Given the description of an element on the screen output the (x, y) to click on. 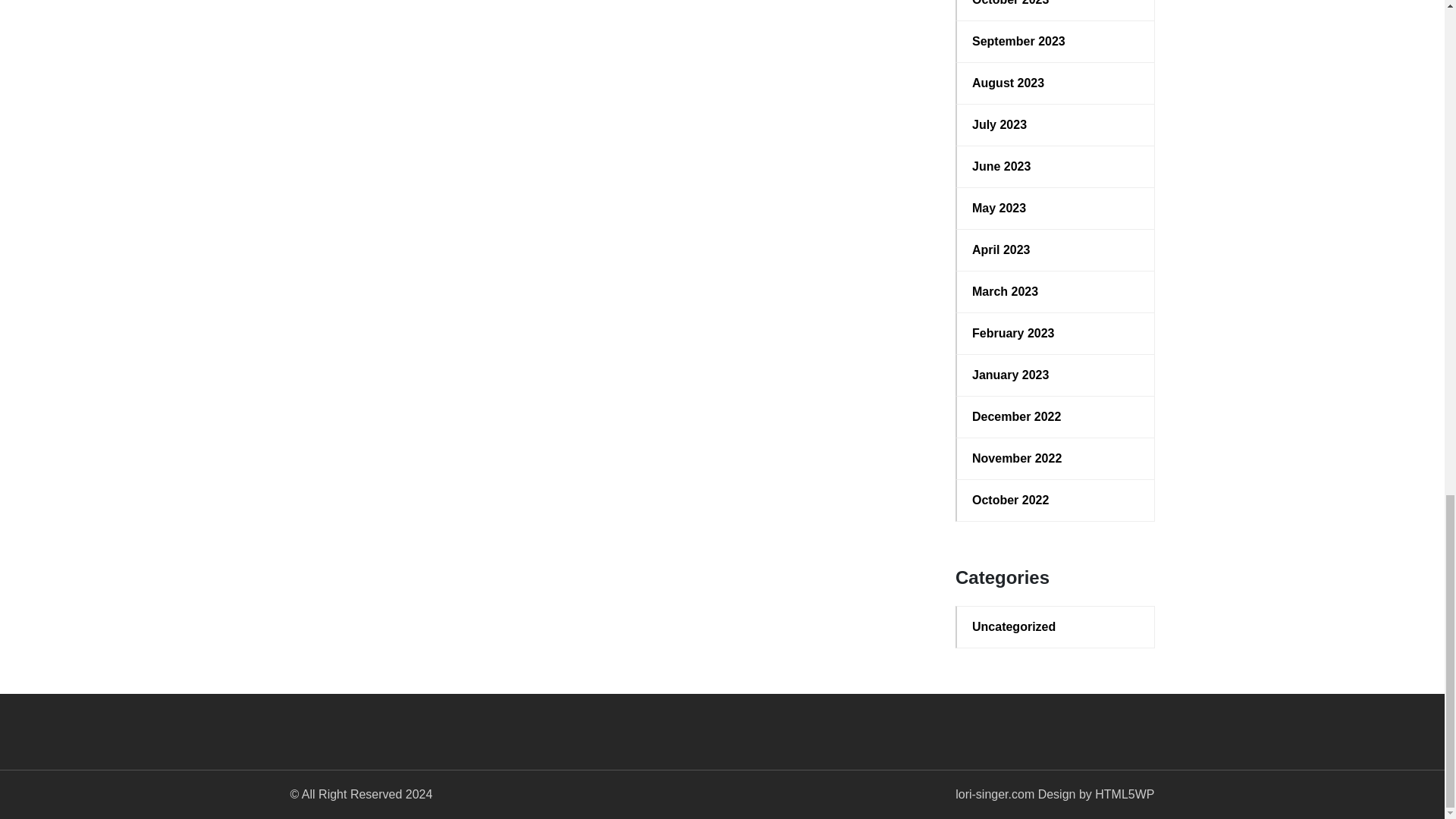
March 2023 (1055, 291)
Uncategorized (1055, 627)
June 2023 (1055, 167)
HTML5WP (1124, 793)
February 2023 (1055, 333)
April 2023 (1055, 249)
January 2023 (1055, 375)
July 2023 (1055, 125)
September 2023 (1055, 41)
October 2023 (1055, 4)
